Given the description of an element on the screen output the (x, y) to click on. 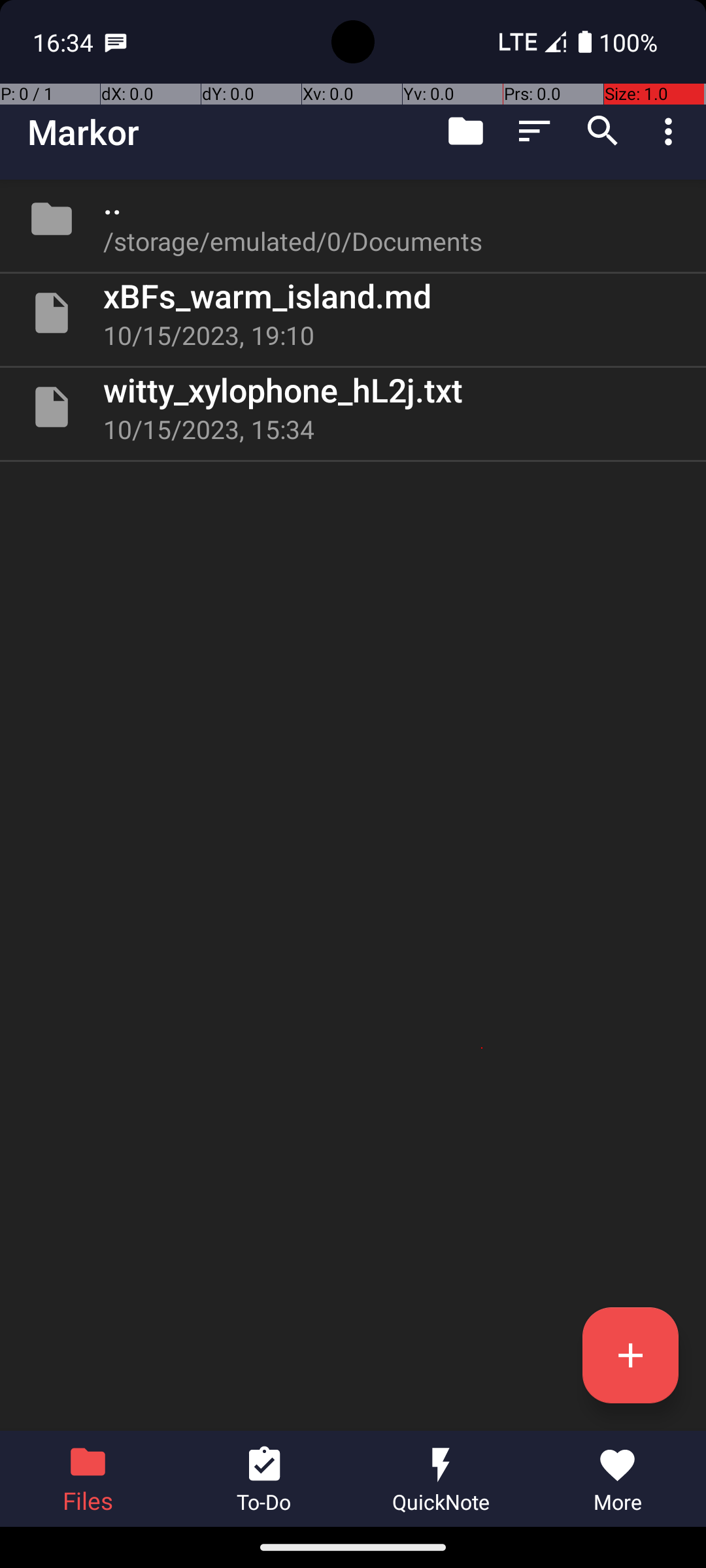
File xBFs_warm_island.md  Element type: android.widget.LinearLayout (353, 312)
File witty_xylophone_hL2j.txt  Element type: android.widget.LinearLayout (353, 406)
16:34 Element type: android.widget.TextView (64, 41)
